Given the description of an element on the screen output the (x, y) to click on. 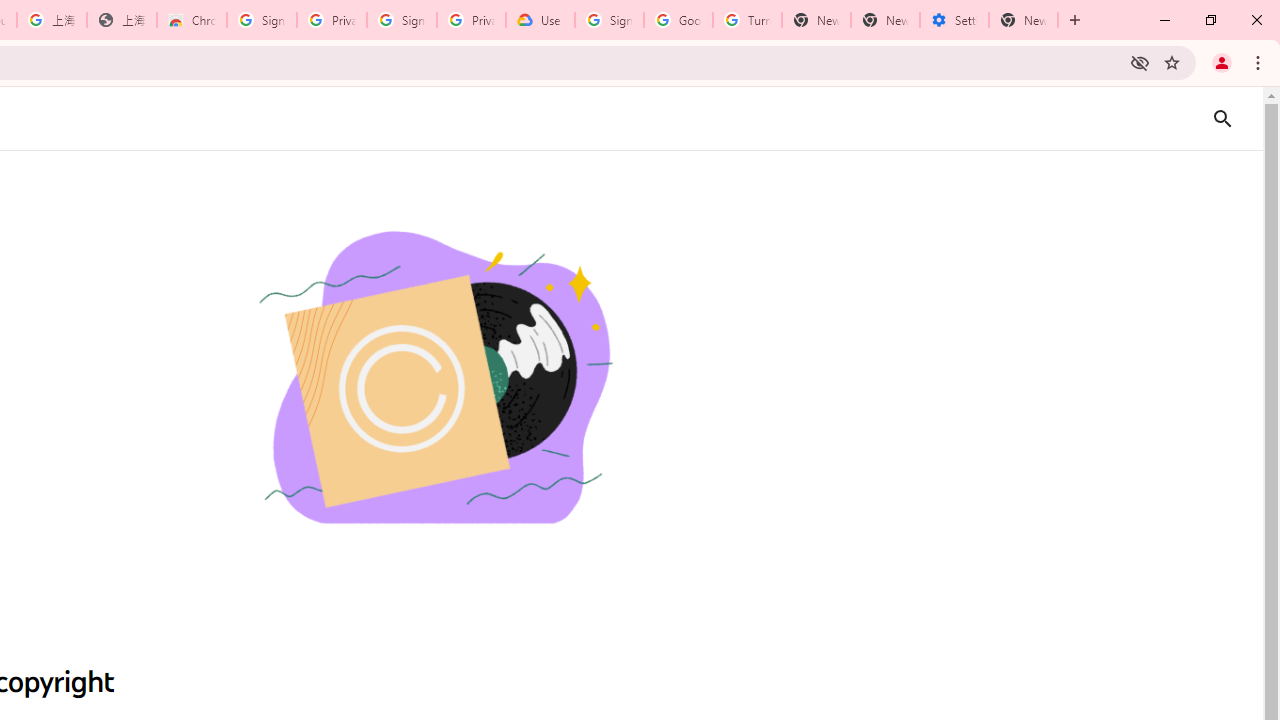
New Tab (1023, 20)
Sign in - Google Accounts (401, 20)
Sign in - Google Accounts (608, 20)
Google Account Help (677, 20)
Chrome Web Store - Color themes by Chrome (191, 20)
